Given the description of an element on the screen output the (x, y) to click on. 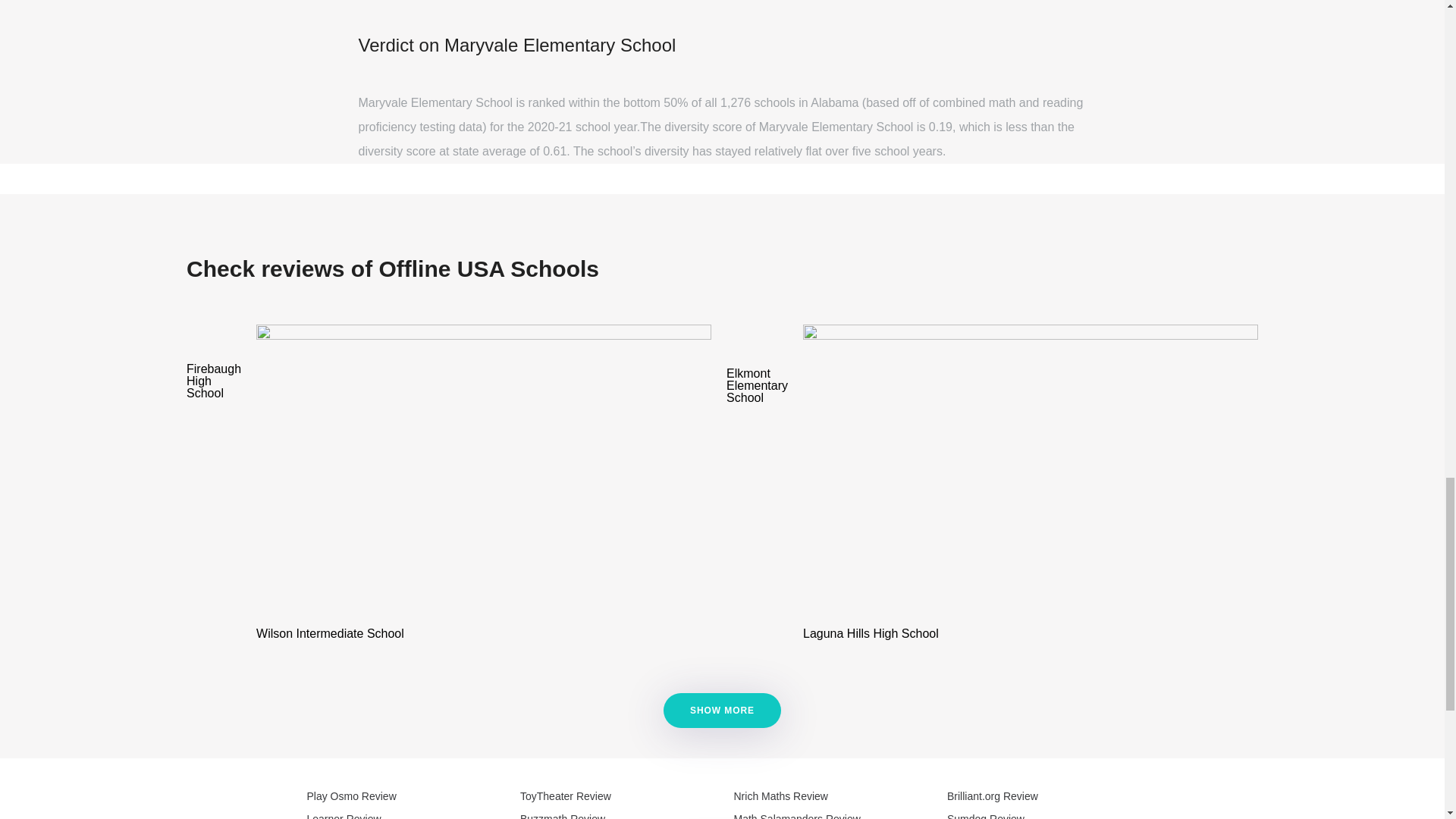
Play Osmo Review (350, 796)
Learner Review (342, 816)
SHOW MORE (721, 710)
SHOW MORE (721, 710)
